Given the description of an element on the screen output the (x, y) to click on. 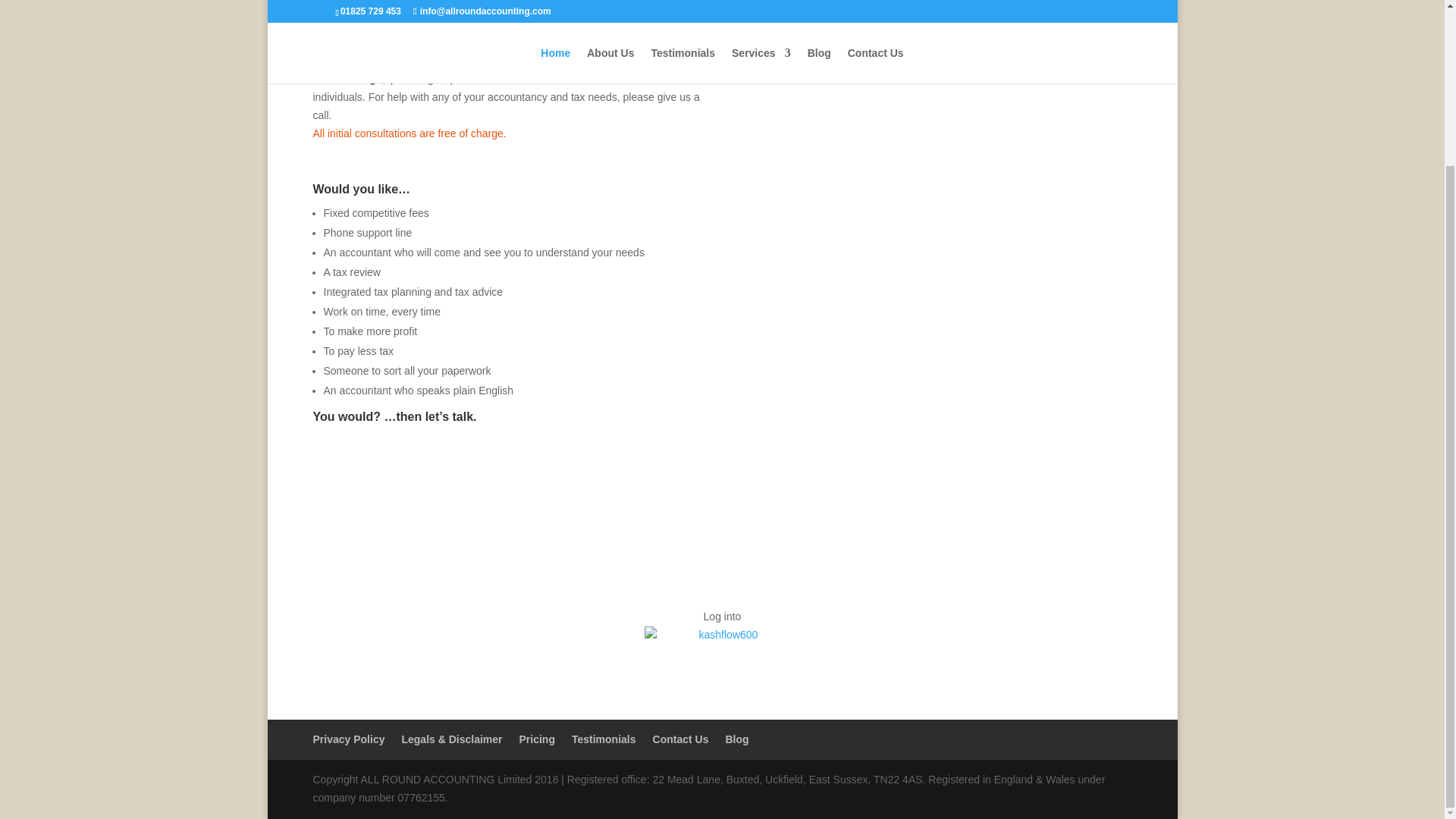
Contact Us (680, 739)
Testimonials (604, 739)
Blog (736, 739)
Privacy Policy (348, 739)
Contact Us (366, 479)
Pricing (536, 739)
